Given the description of an element on the screen output the (x, y) to click on. 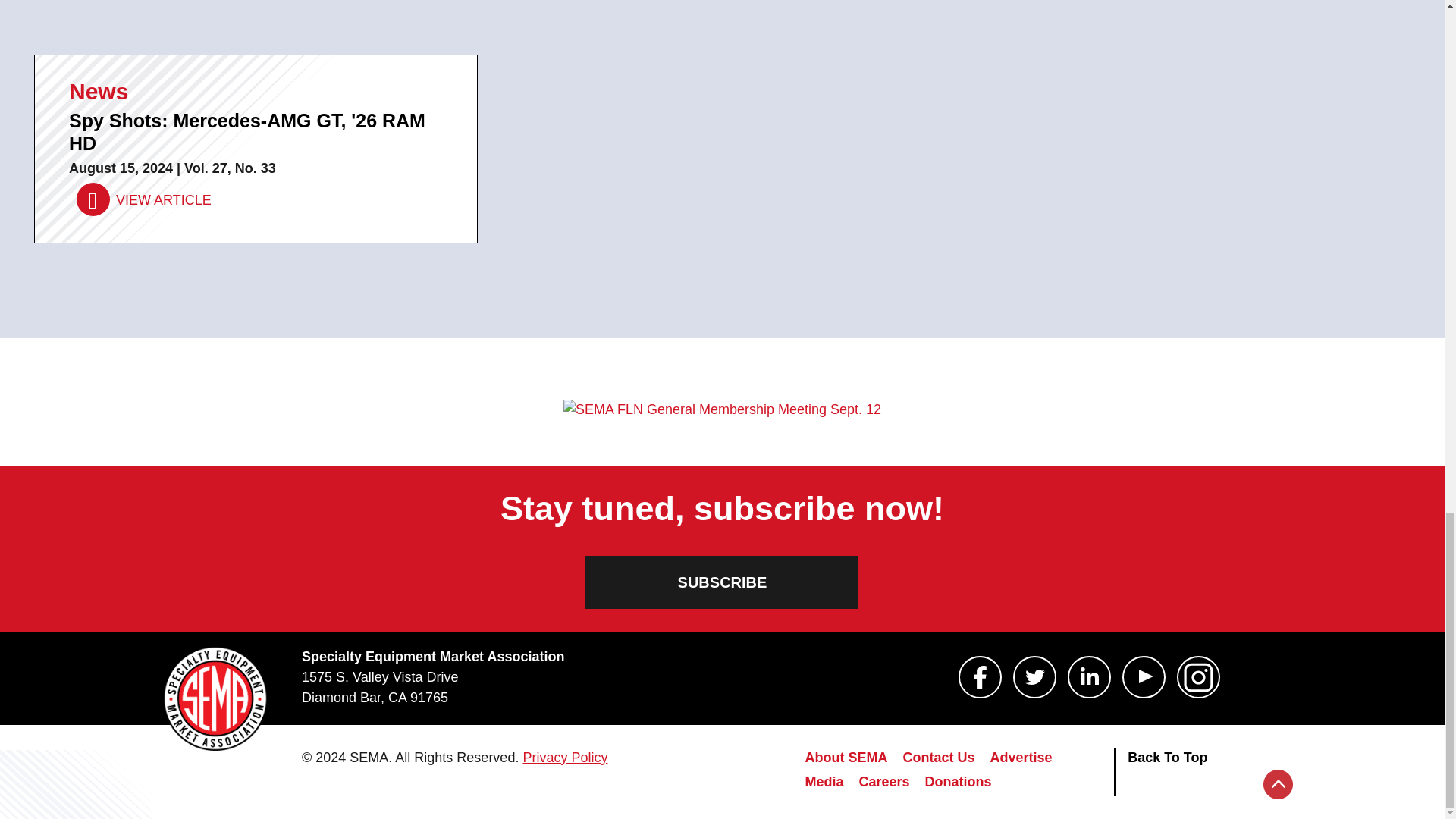
SUBSCRIBE (722, 582)
VIEW ARTICLE (143, 200)
SEMA LinkedIn Link (1088, 677)
Spy Shots: Mercedes-AMG GT, '26 RAM HD (143, 200)
Privacy Policy (564, 757)
SEMA Instagram Link (1198, 677)
SEMA FLN General Membership Meeting Sept. 12 (721, 409)
SEMA YouTube Link (1144, 677)
SEMA Facebook Link (979, 677)
SEMA Twitter Link (1035, 677)
